Given the description of an element on the screen output the (x, y) to click on. 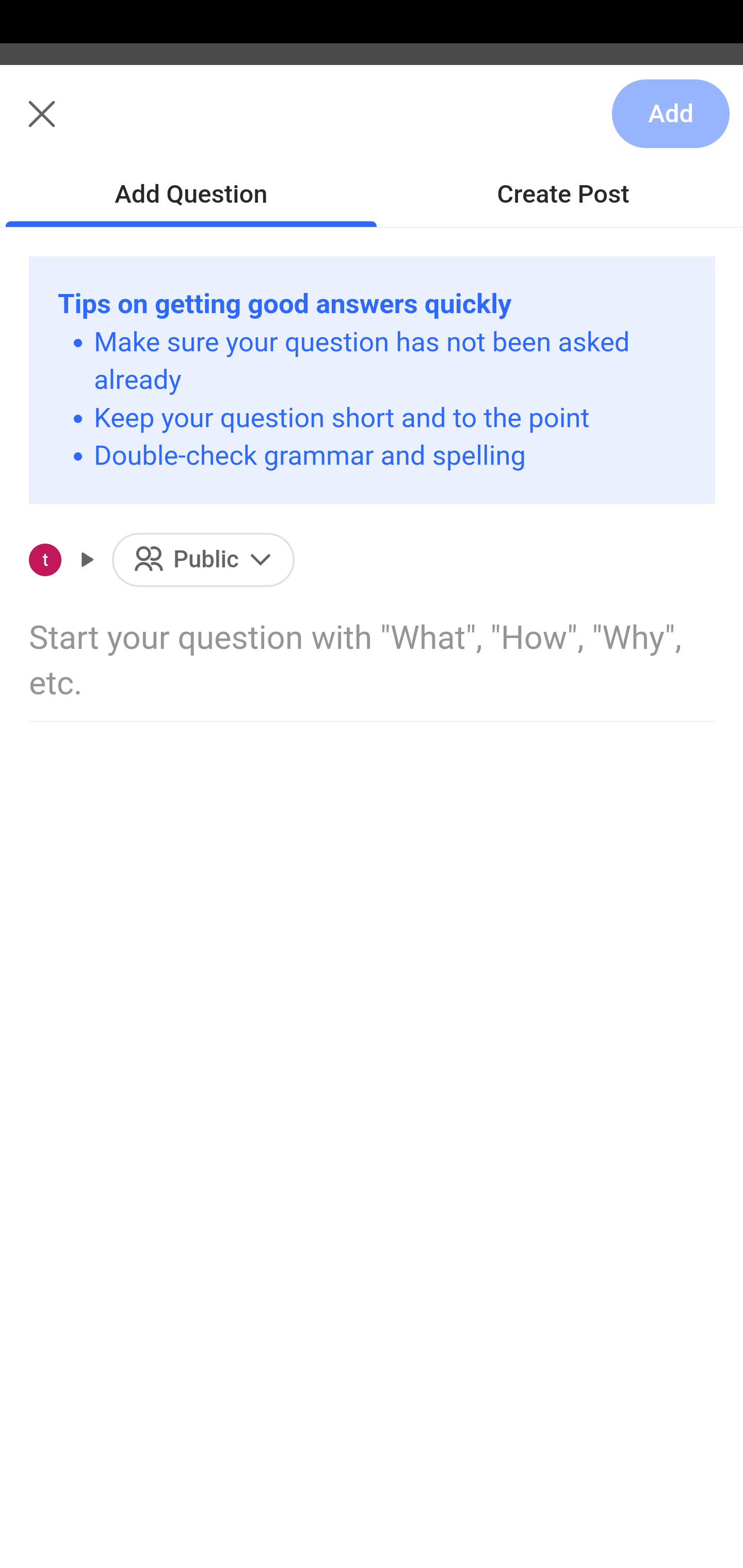
Me Home Search Add (371, 125)
Me (64, 125)
